Given the description of an element on the screen output the (x, y) to click on. 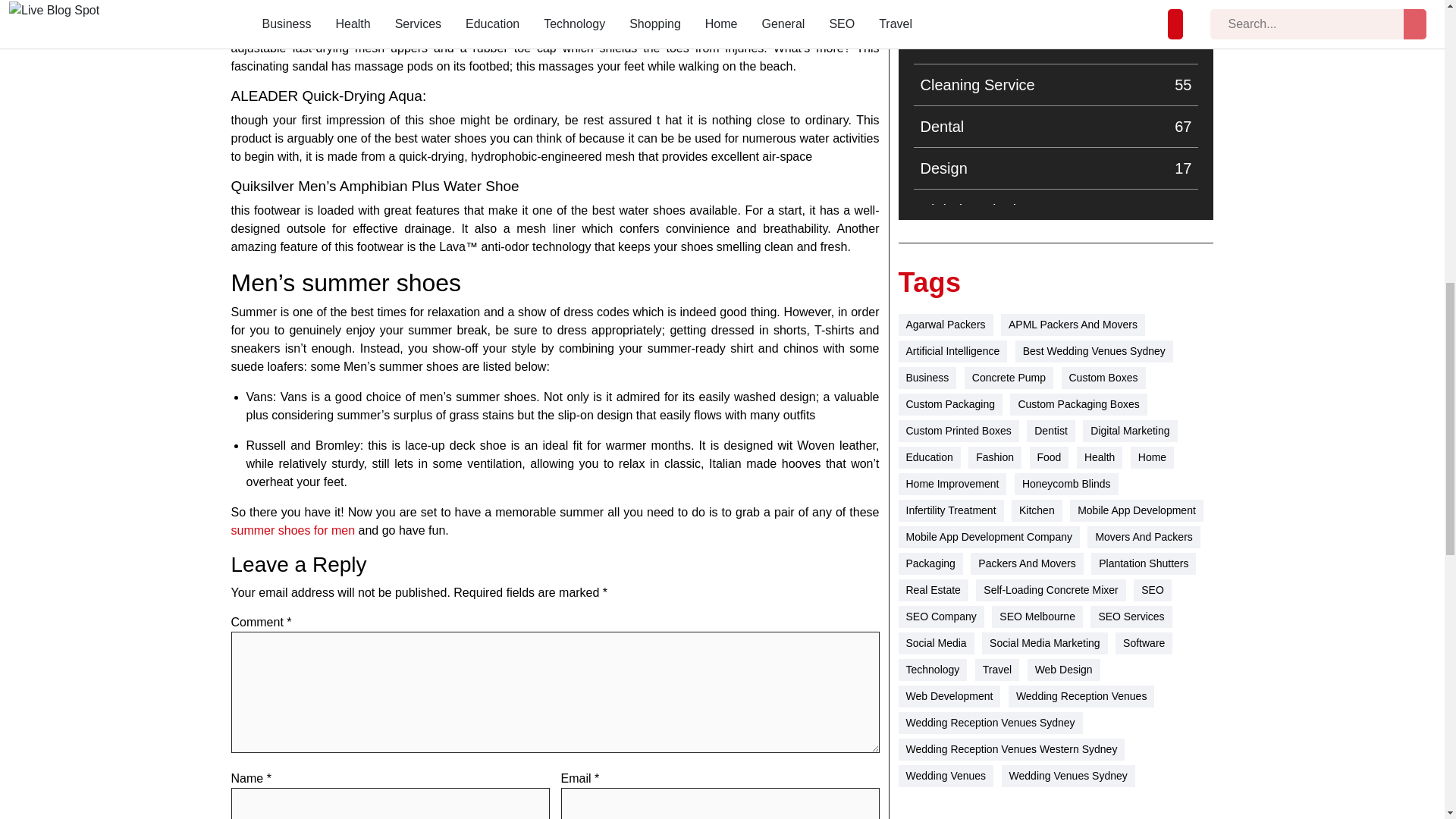
summer shoes for men (1056, 168)
